Given the description of an element on the screen output the (x, y) to click on. 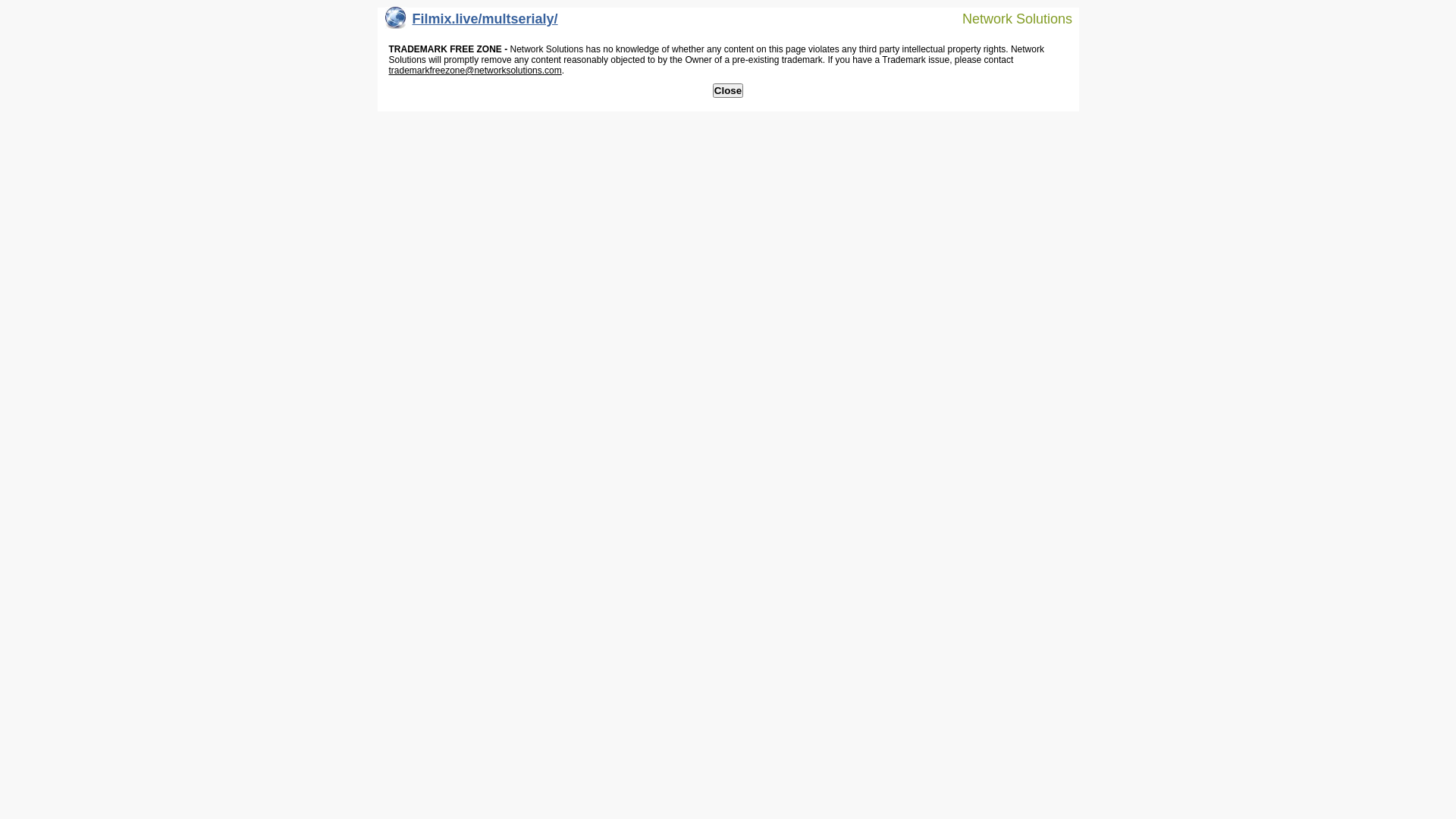
trademarkfreezone@networksolutions.com Element type: text (474, 70)
Network Solutions Element type: text (1007, 17)
Close Element type: text (727, 90)
Filmix.live/multserialy/ Element type: text (471, 21)
